Given the description of an element on the screen output the (x, y) to click on. 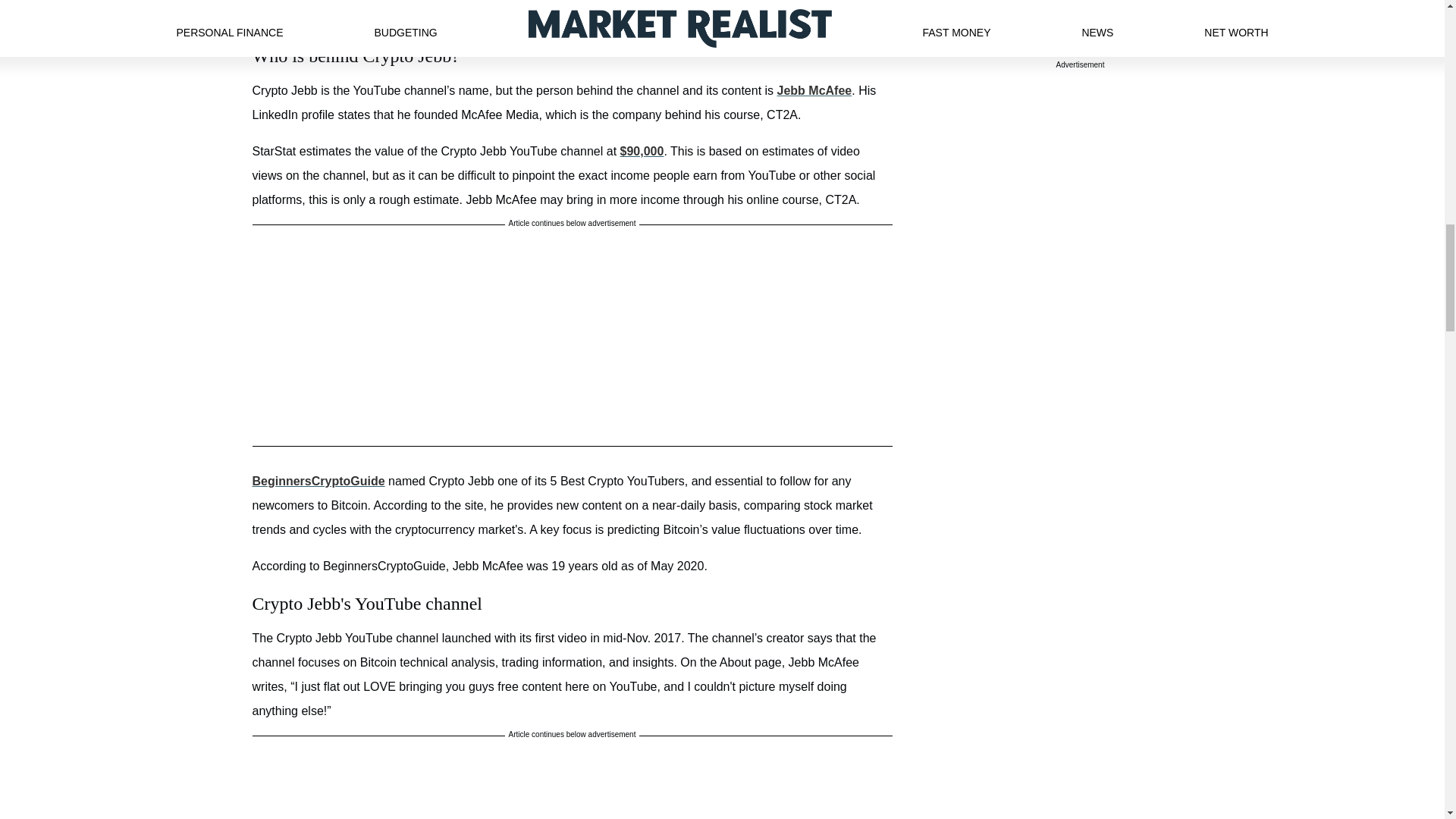
BeginnersCryptoGuide (317, 481)
Jebb McAfee (814, 90)
